Given the description of an element on the screen output the (x, y) to click on. 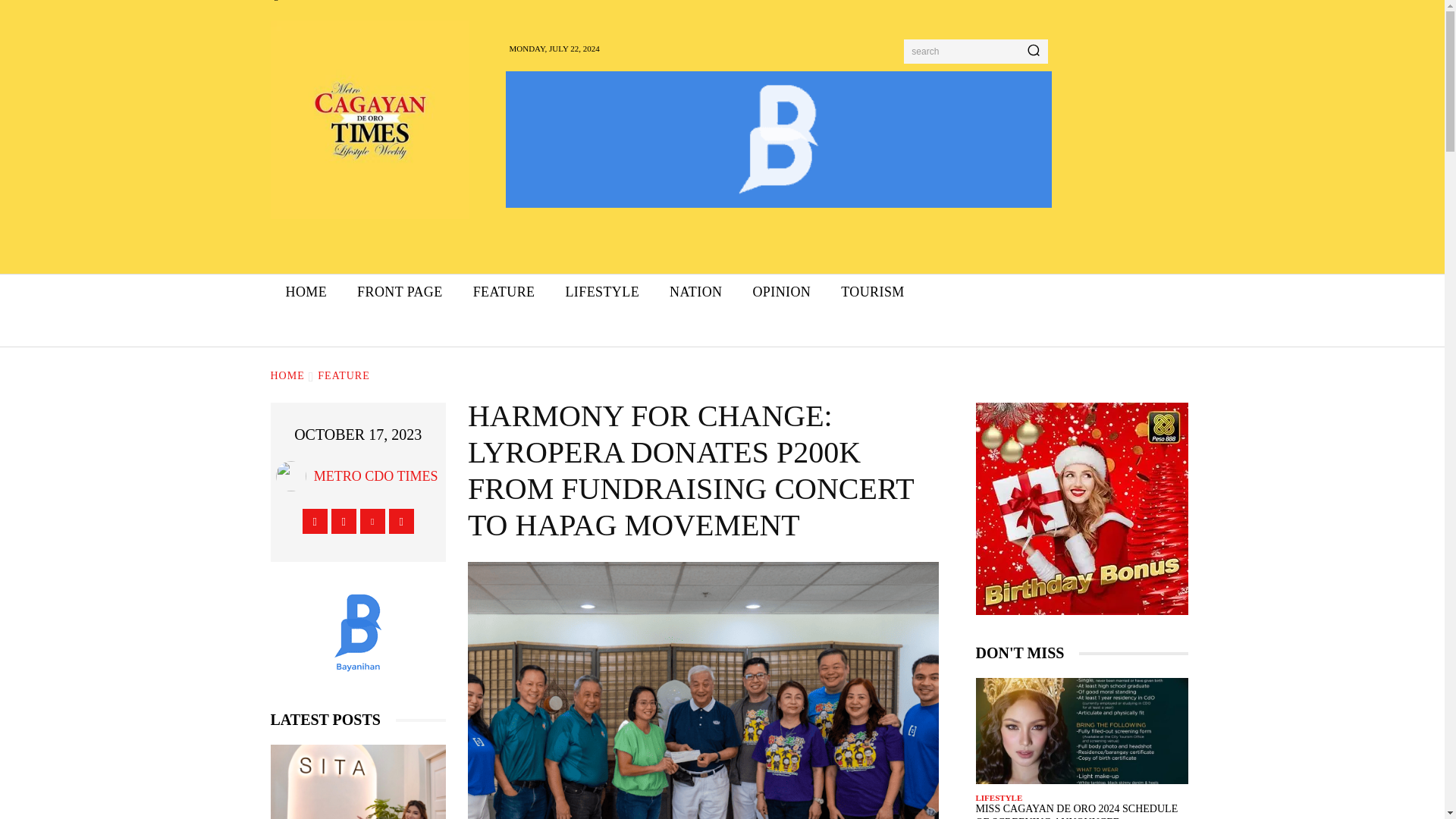
HOME (305, 292)
FRONT PAGE (400, 292)
FEATURE (504, 292)
LIFESTYLE (601, 292)
